Given the description of an element on the screen output the (x, y) to click on. 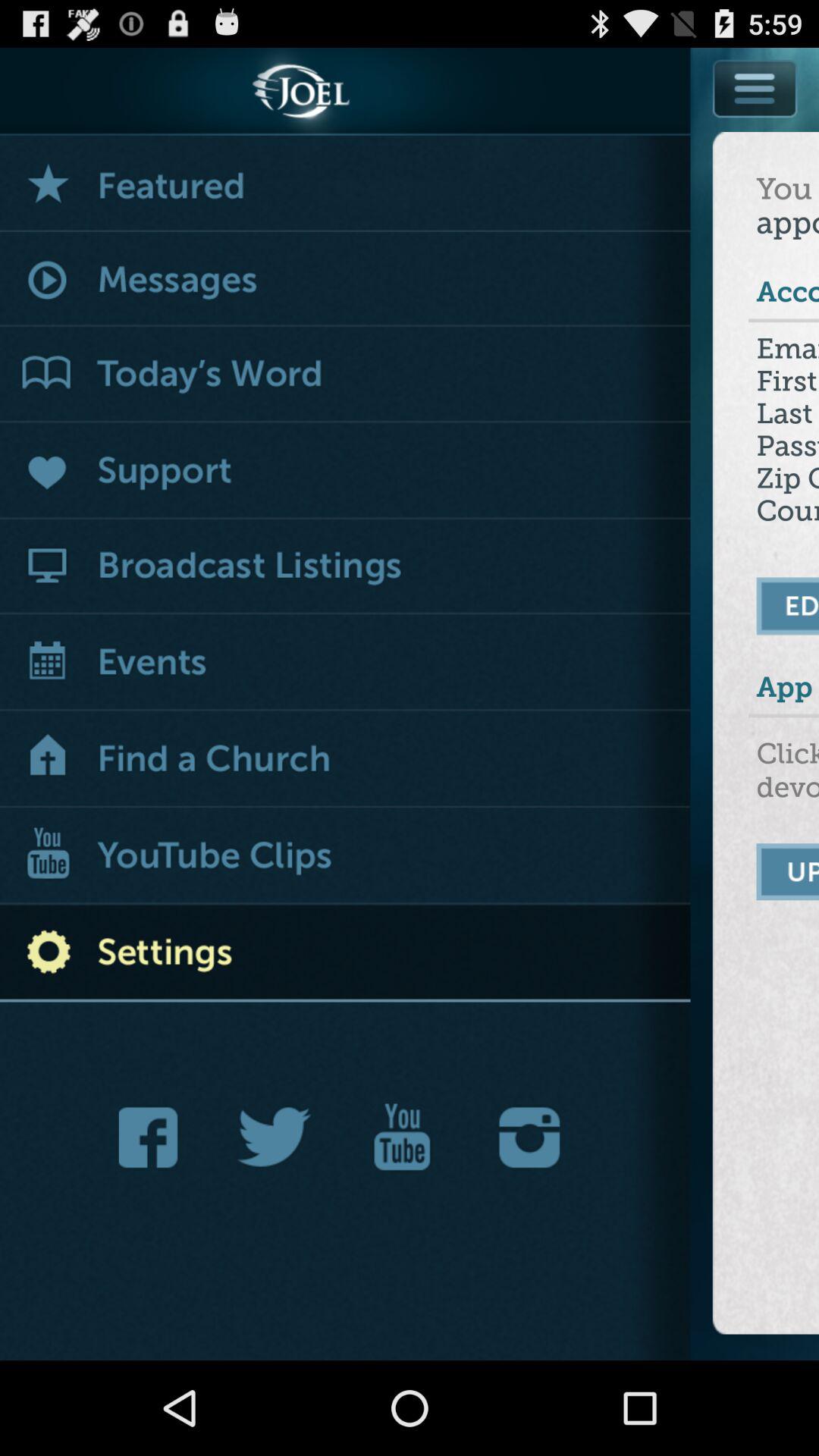
show churches (345, 760)
